Given the description of an element on the screen output the (x, y) to click on. 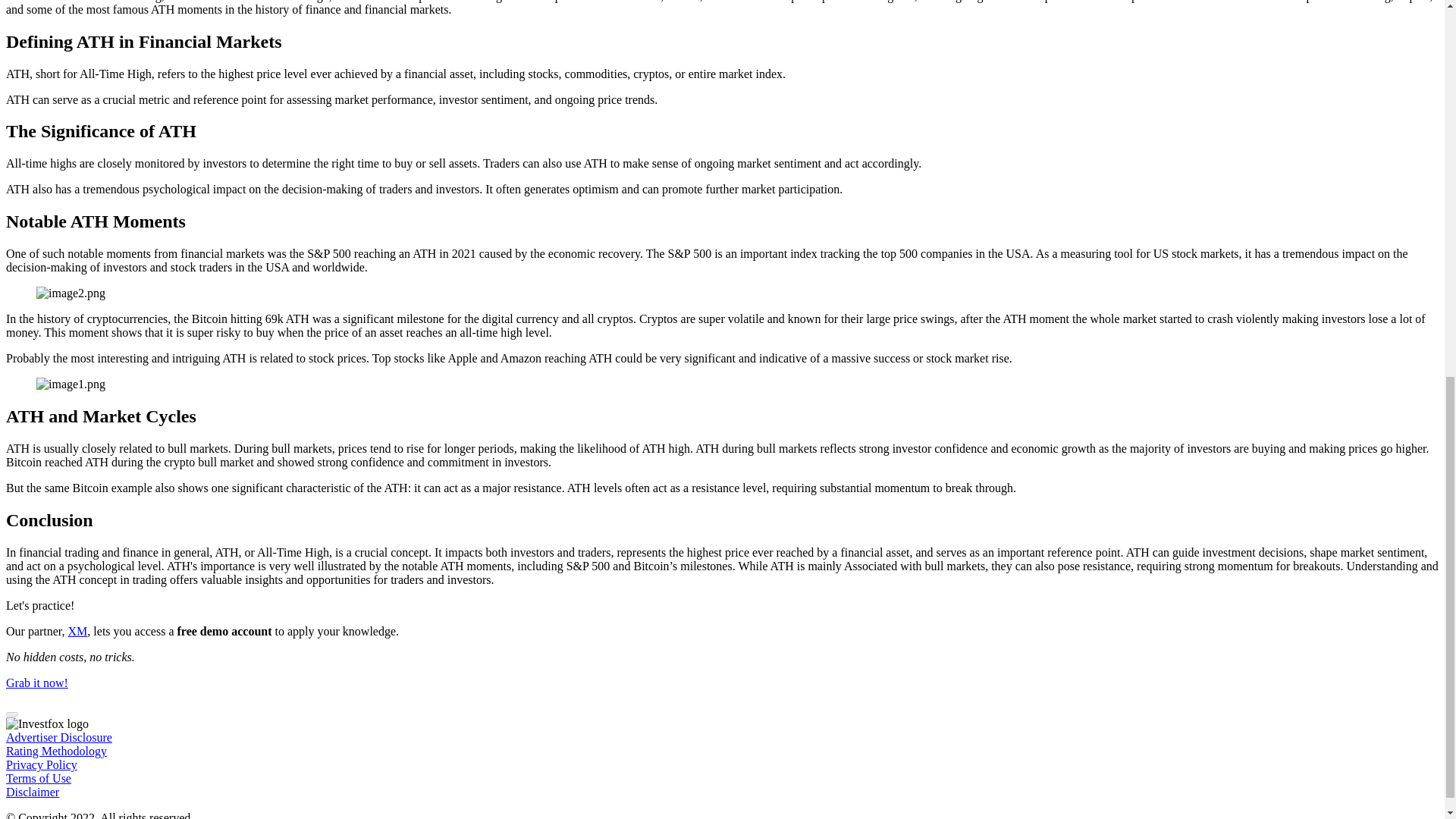
Terms of Use (38, 778)
XM (77, 631)
Advertiser Disclosure (58, 737)
Rating Methodology (55, 750)
Privacy Policy (41, 764)
Disclaimer (32, 791)
